Given the description of an element on the screen output the (x, y) to click on. 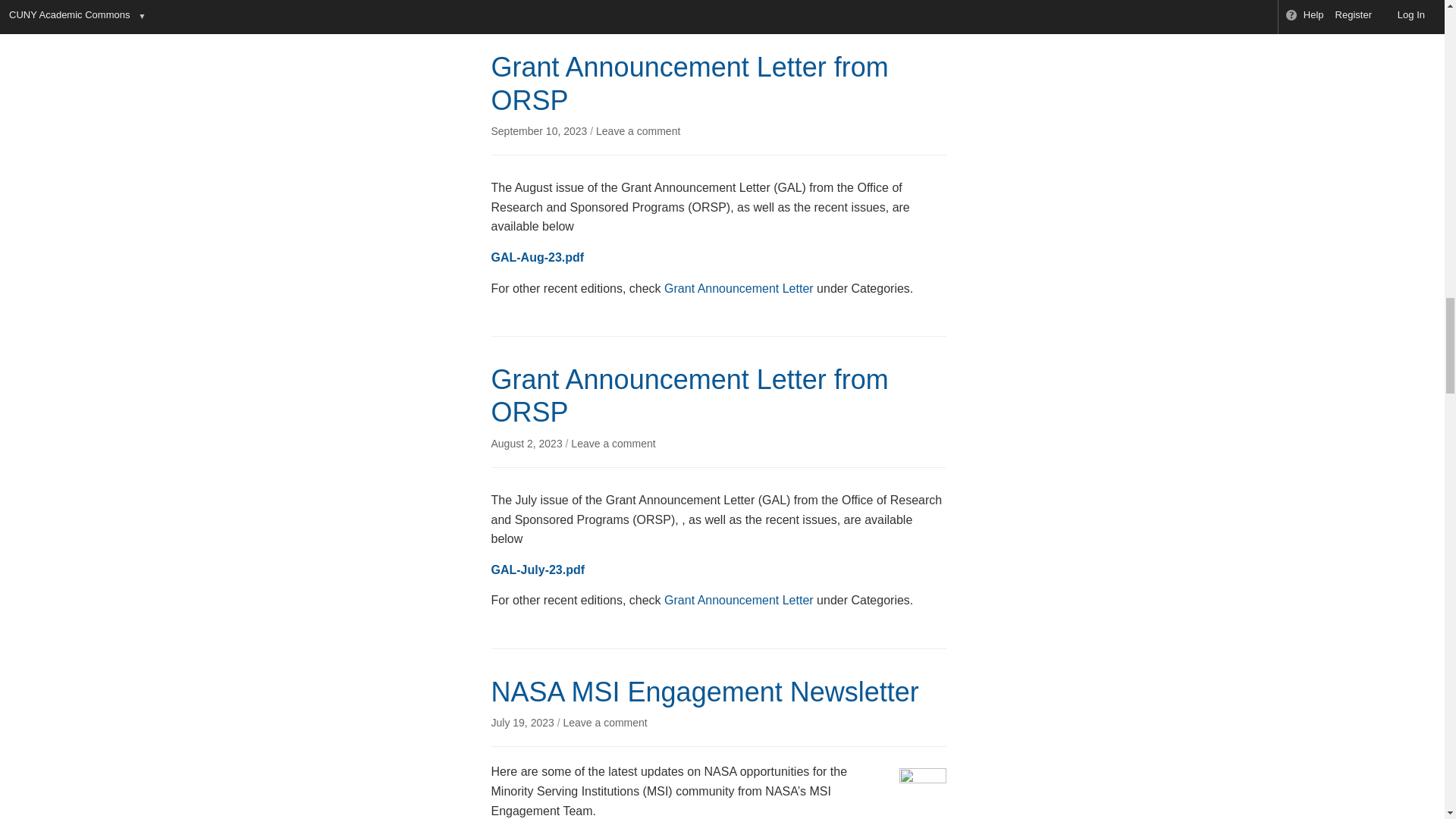
Permanent Link to Grant Announcement Letter from ORSP (541, 131)
Permanent Link to NASA MSI Engagement Newsletter (524, 722)
Permanent Link to Grant Announcement Letter from ORSP (529, 443)
